Given the description of an element on the screen output the (x, y) to click on. 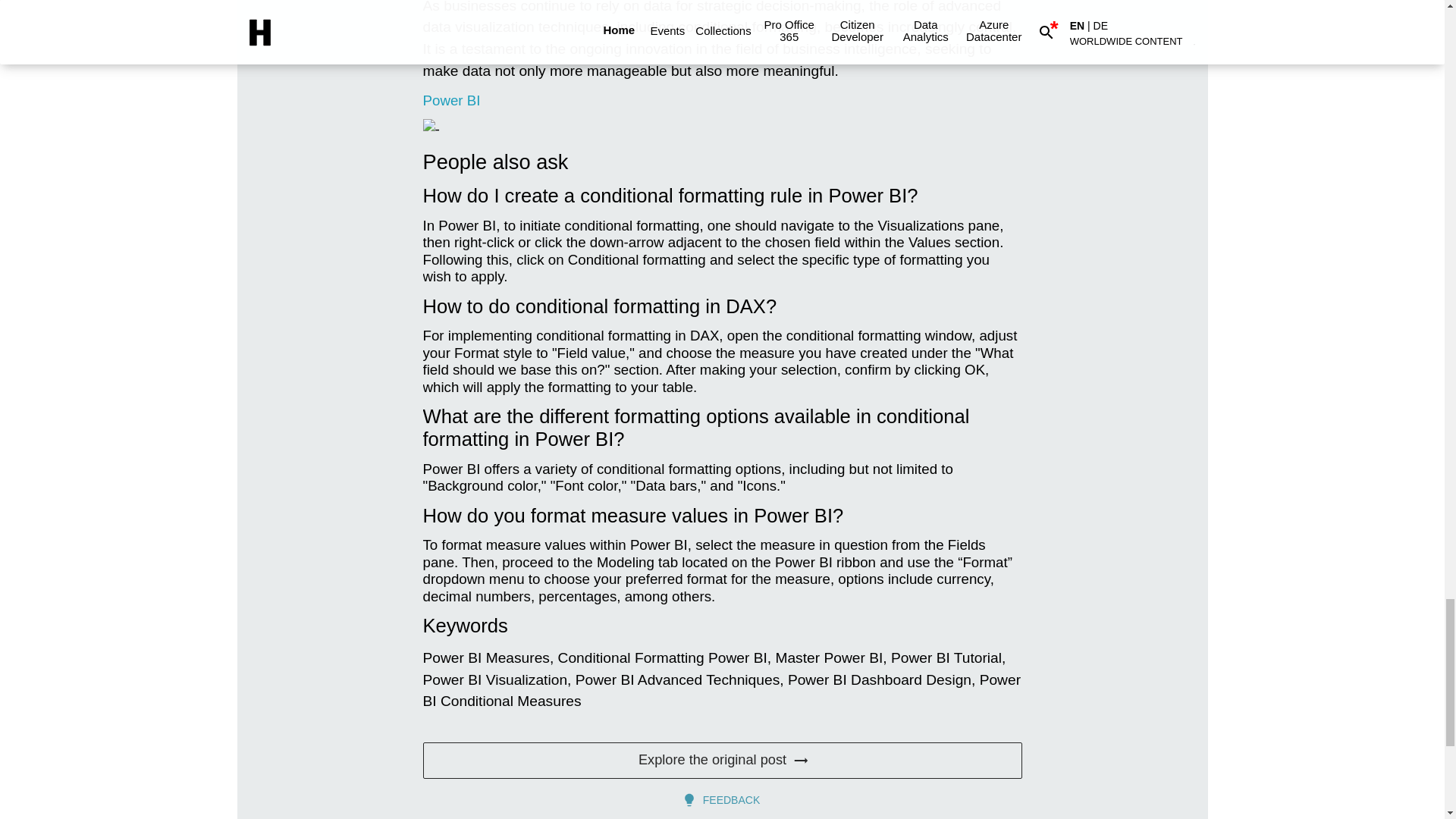
Explore the original post (722, 760)
FEEDBACK (721, 800)
Power BI (451, 100)
Power BI (451, 100)
